Given the description of an element on the screen output the (x, y) to click on. 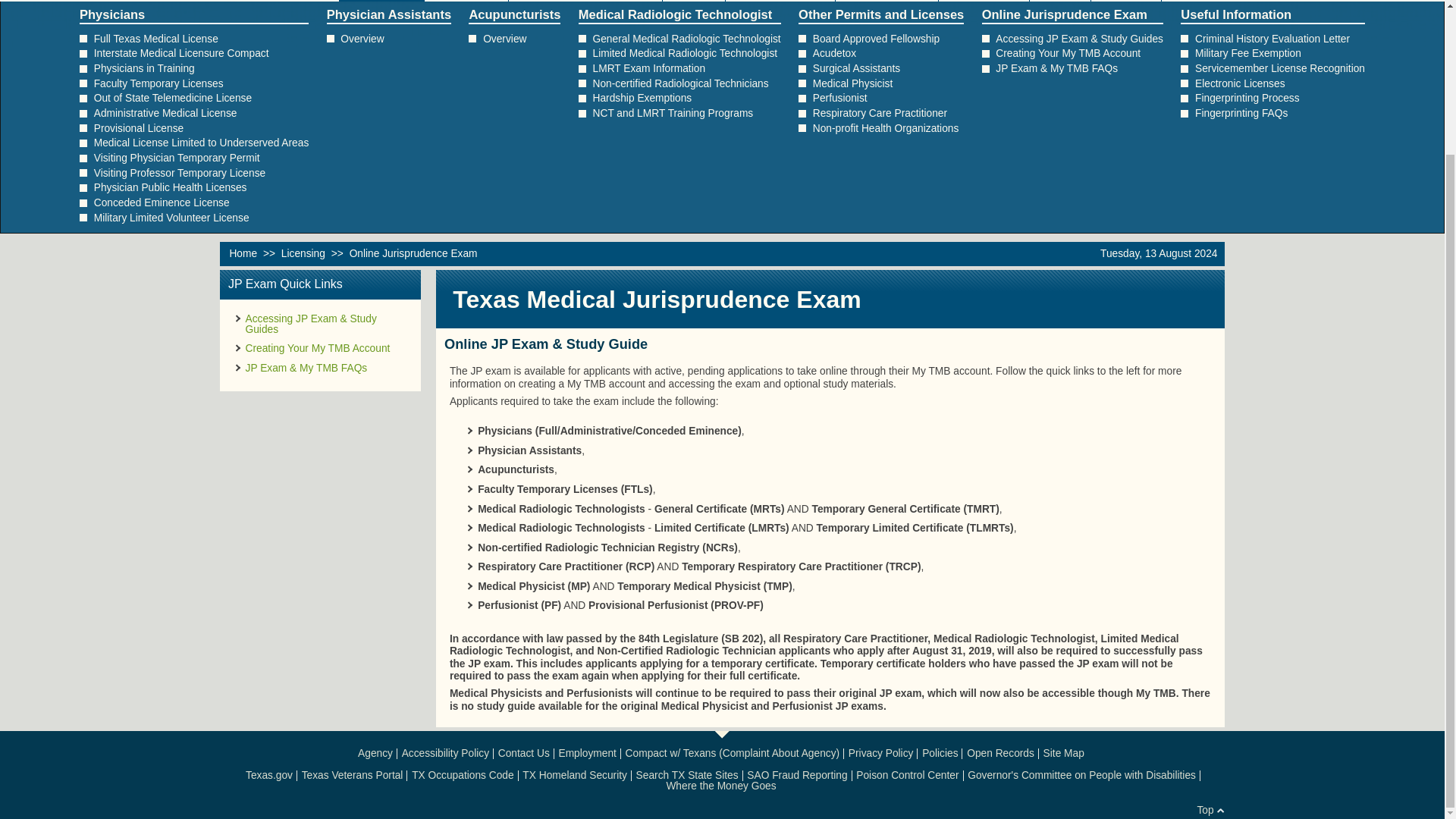
Limited Medical Radiologic Technologist (684, 52)
Full Texas Medical License (156, 39)
Newsroom (984, 0)
Out of State Telemedicine License (172, 98)
Top (1204, 809)
Acupuncturists (514, 14)
General Medical Radiologic Technologist (686, 39)
Non-certified Radiological Technicians (680, 83)
Provisional License (138, 128)
